Given the description of an element on the screen output the (x, y) to click on. 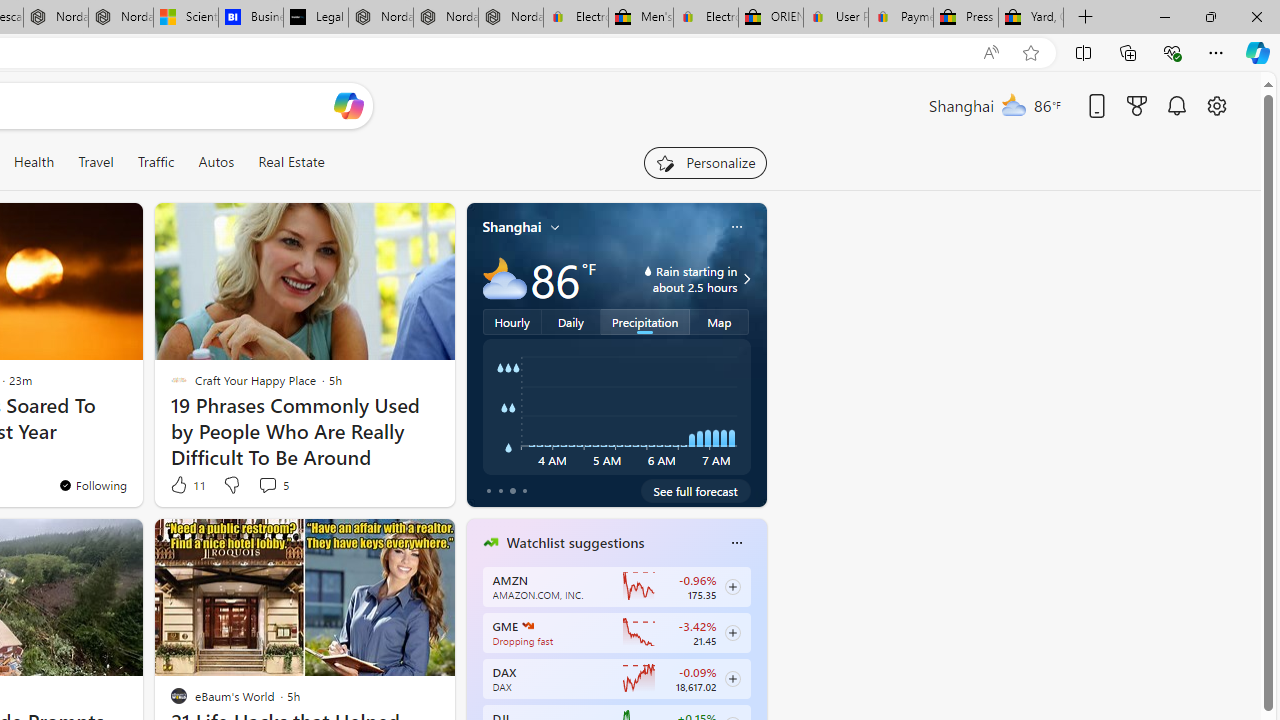
Hourly (511, 321)
next (756, 670)
Traffic (155, 162)
See full forecast (695, 490)
water-drop-icon (648, 270)
tab-3 (524, 490)
Precipitation (645, 321)
tab-1 (500, 490)
